Given the description of an element on the screen output the (x, y) to click on. 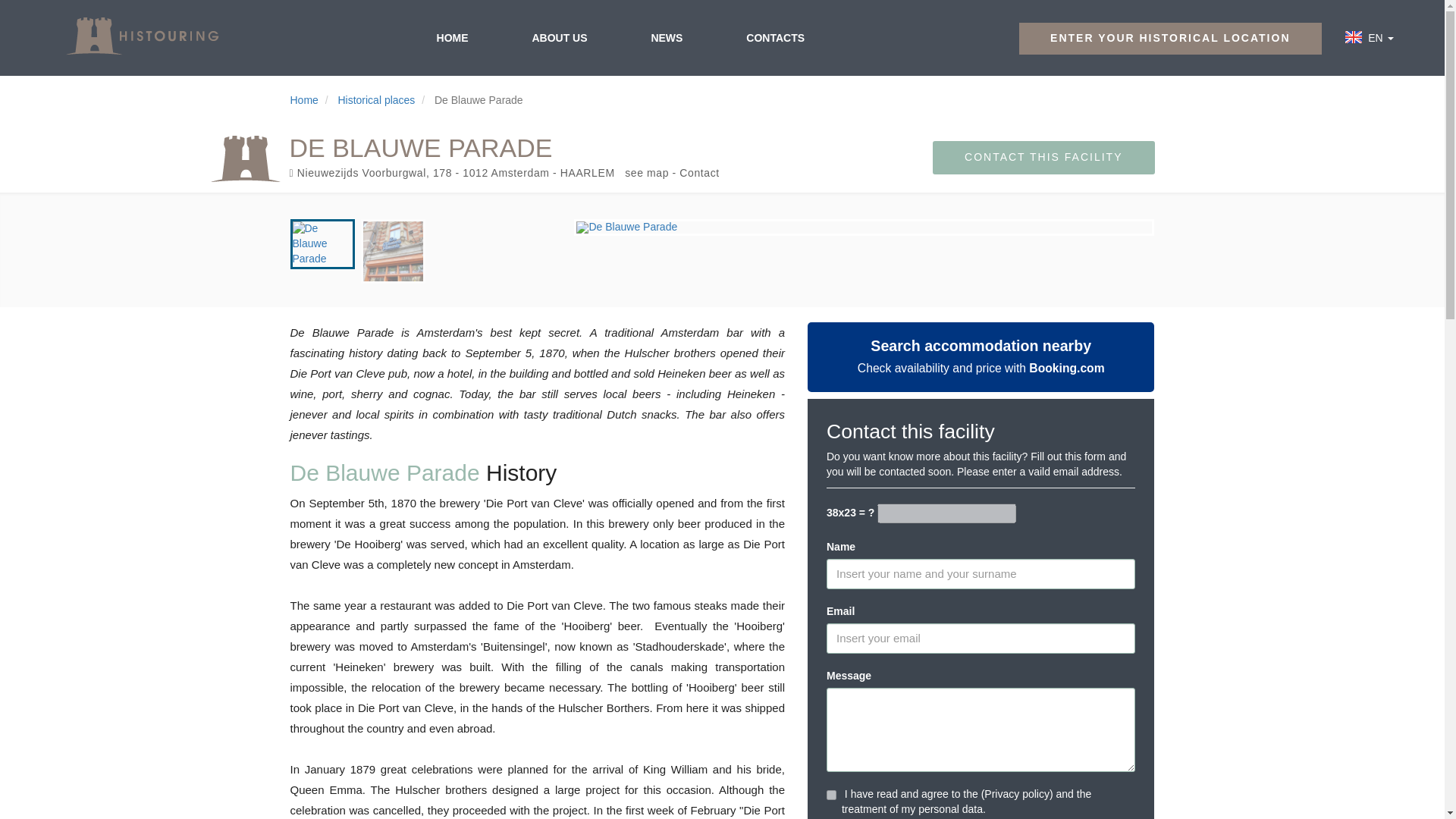
CONTACTS (775, 37)
Histouring (141, 35)
NEWS (666, 37)
  EN  (1377, 37)
CONTACT THIS FACILITY (1043, 157)
HOME (452, 37)
ENTER YOUR HISTORICAL LOCATION (1169, 38)
see map (646, 173)
Privacy policy (1016, 793)
